Given the description of an element on the screen output the (x, y) to click on. 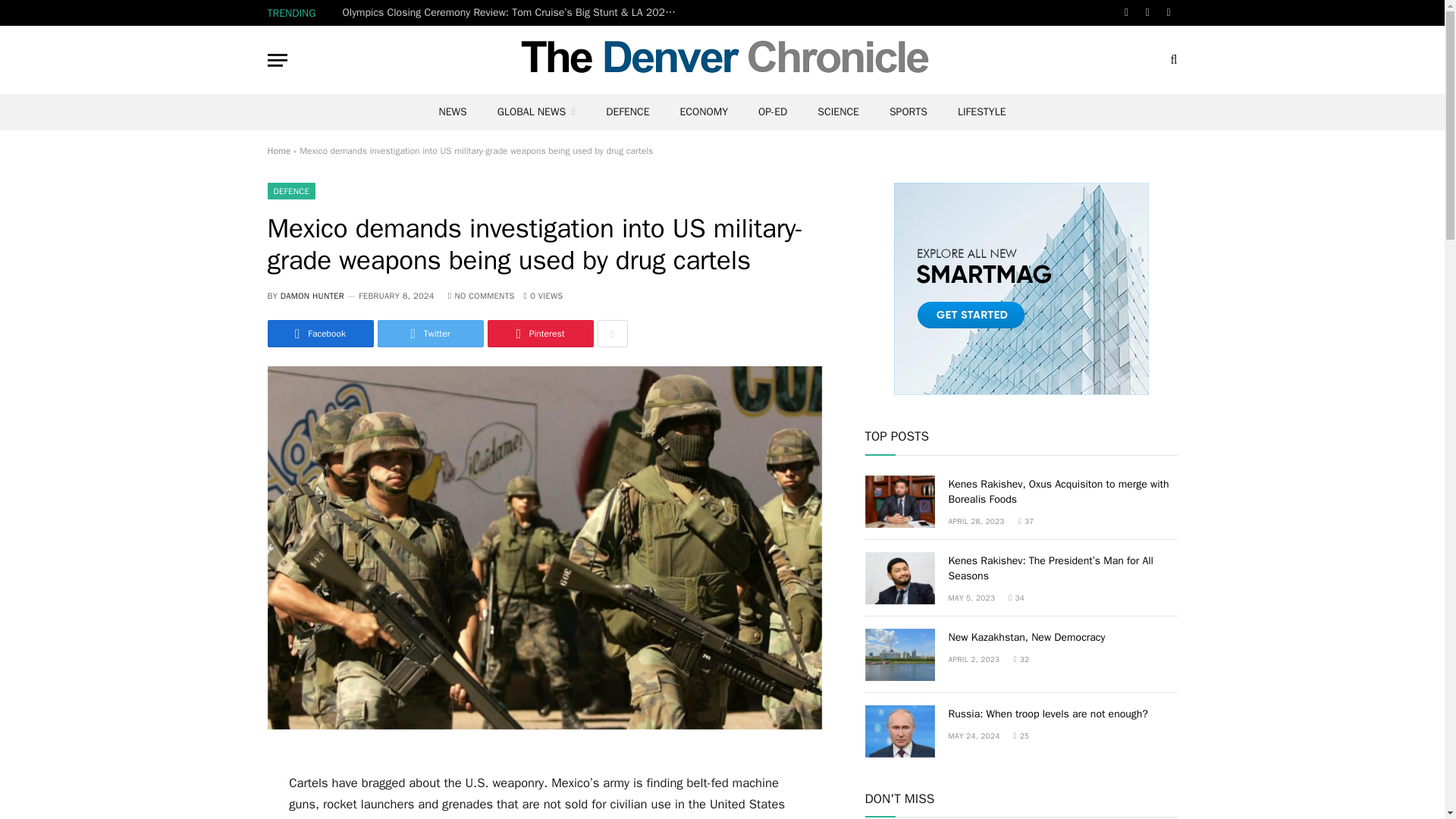
The Denver Chronicle (721, 59)
Show More Social Sharing (611, 333)
Share on Pinterest (539, 333)
Share on Facebook (319, 333)
0 Article Views (543, 295)
Posts by Damon Hunter (312, 295)
